Given the description of an element on the screen output the (x, y) to click on. 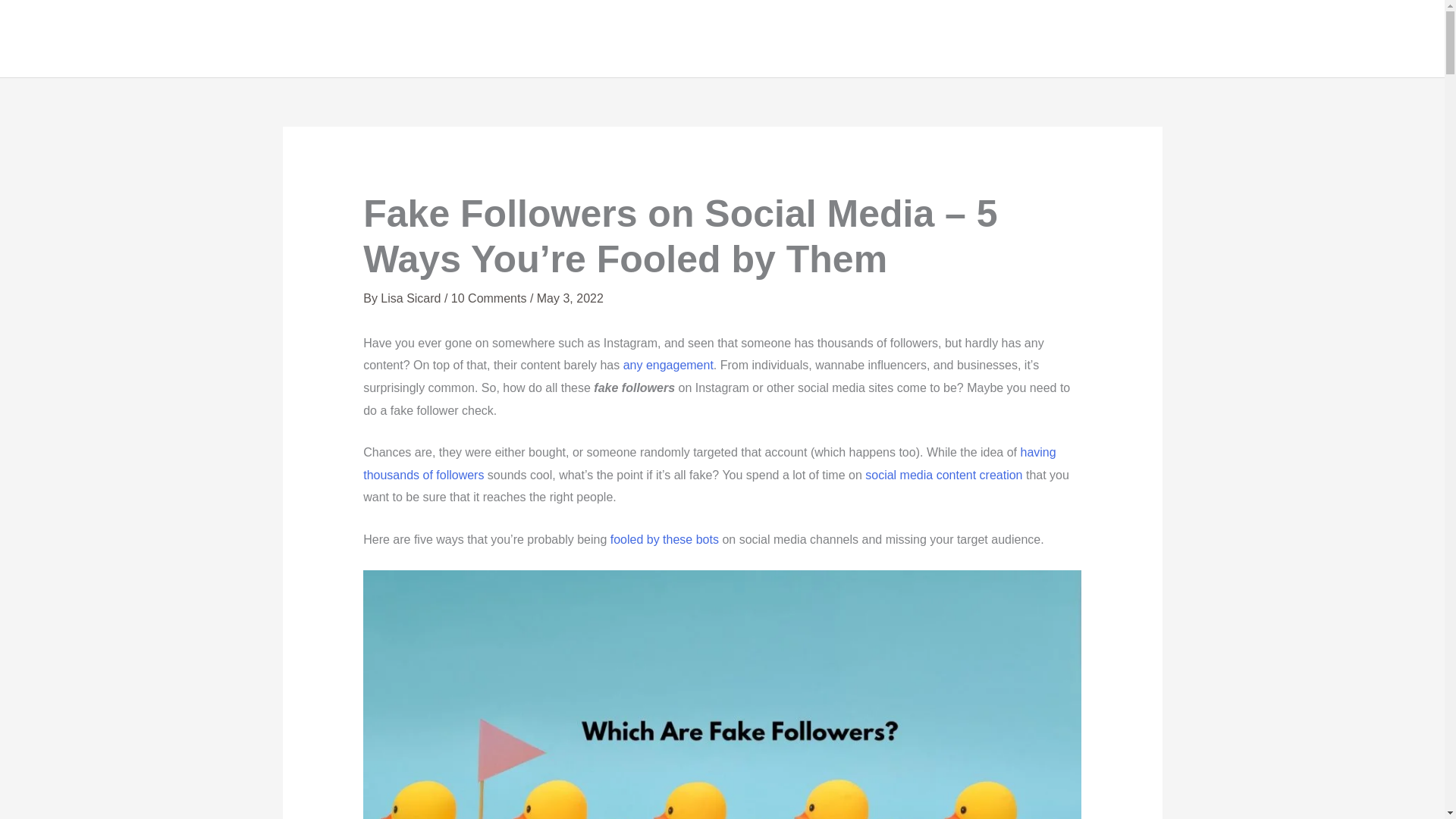
having thousands of followers (708, 463)
social media content creation (943, 474)
View all posts by Lisa Sicard (412, 297)
fooled by these bots (664, 539)
Lisa Sicard (412, 297)
About (1044, 38)
10 Comments (489, 297)
any engagement (668, 364)
Blog (1216, 38)
To Inspire You To Thrive Online (975, 38)
